Given the description of an element on the screen output the (x, y) to click on. 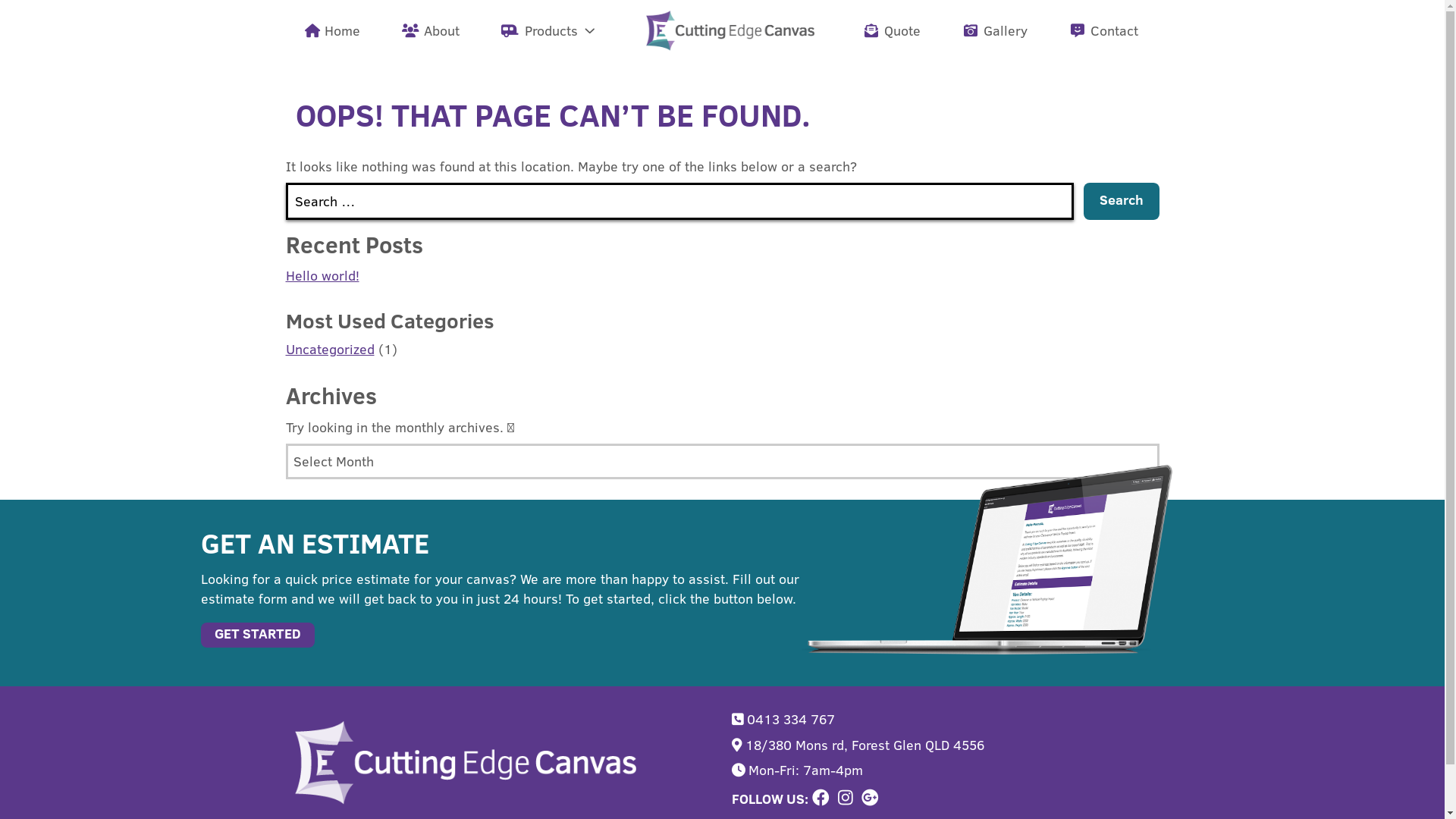
Search Element type: text (1120, 200)
About Element type: text (432, 30)
Products Element type: text (549, 29)
0413 334 767 Element type: text (940, 719)
Contact Element type: text (1104, 30)
Quote Element type: text (892, 30)
Home Element type: text (332, 30)
Mon-Fri: 7am-4pm Element type: text (940, 769)
Gallery Element type: text (995, 30)
Hello world! Element type: text (321, 275)
18/380 Mons rd, Forest Glen QLD 4556 Element type: text (940, 744)
Uncategorized Element type: text (329, 348)
GET STARTED Element type: text (256, 634)
